Given the description of an element on the screen output the (x, y) to click on. 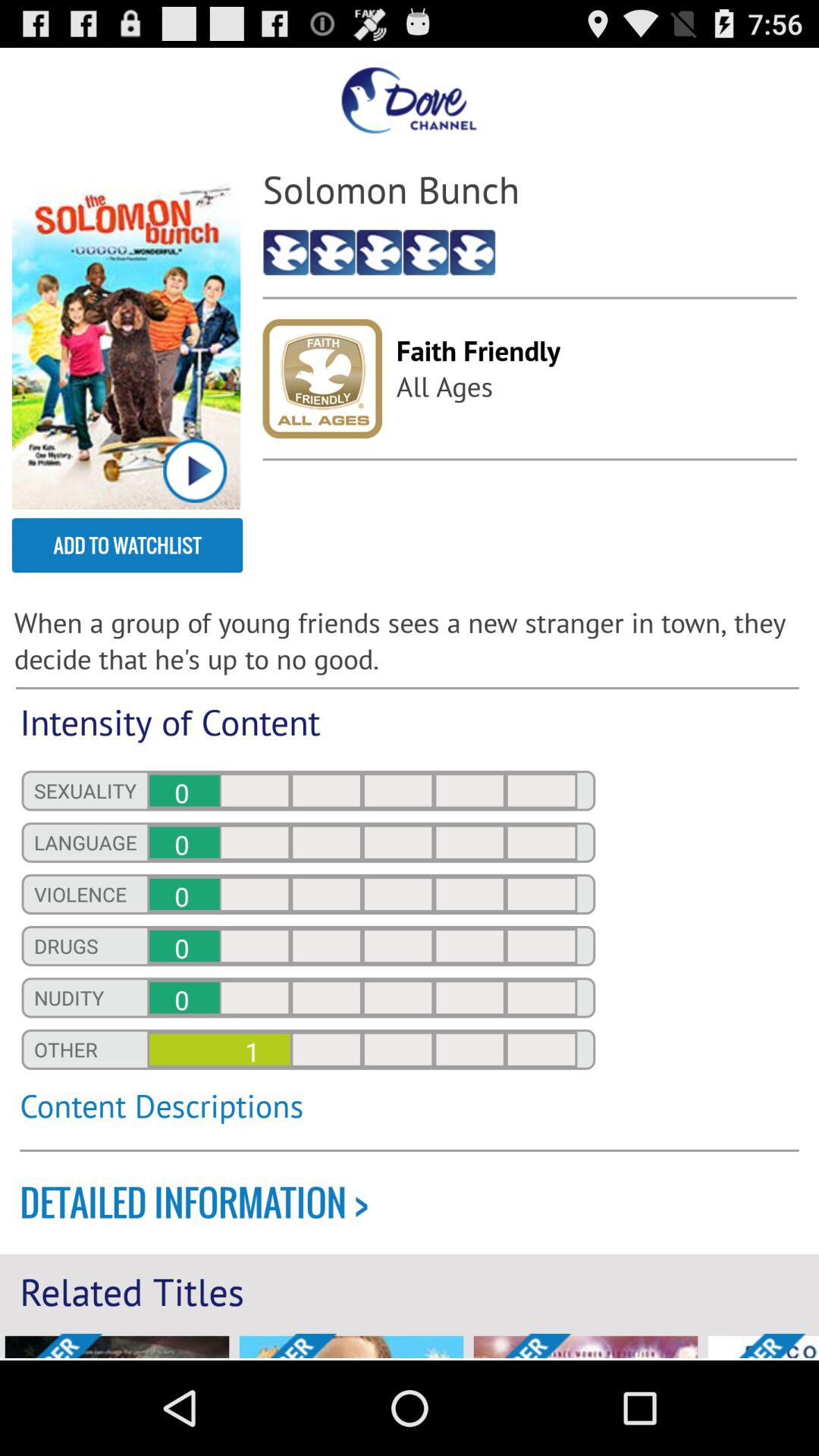
tap the icon above when a group icon (126, 545)
